Given the description of an element on the screen output the (x, y) to click on. 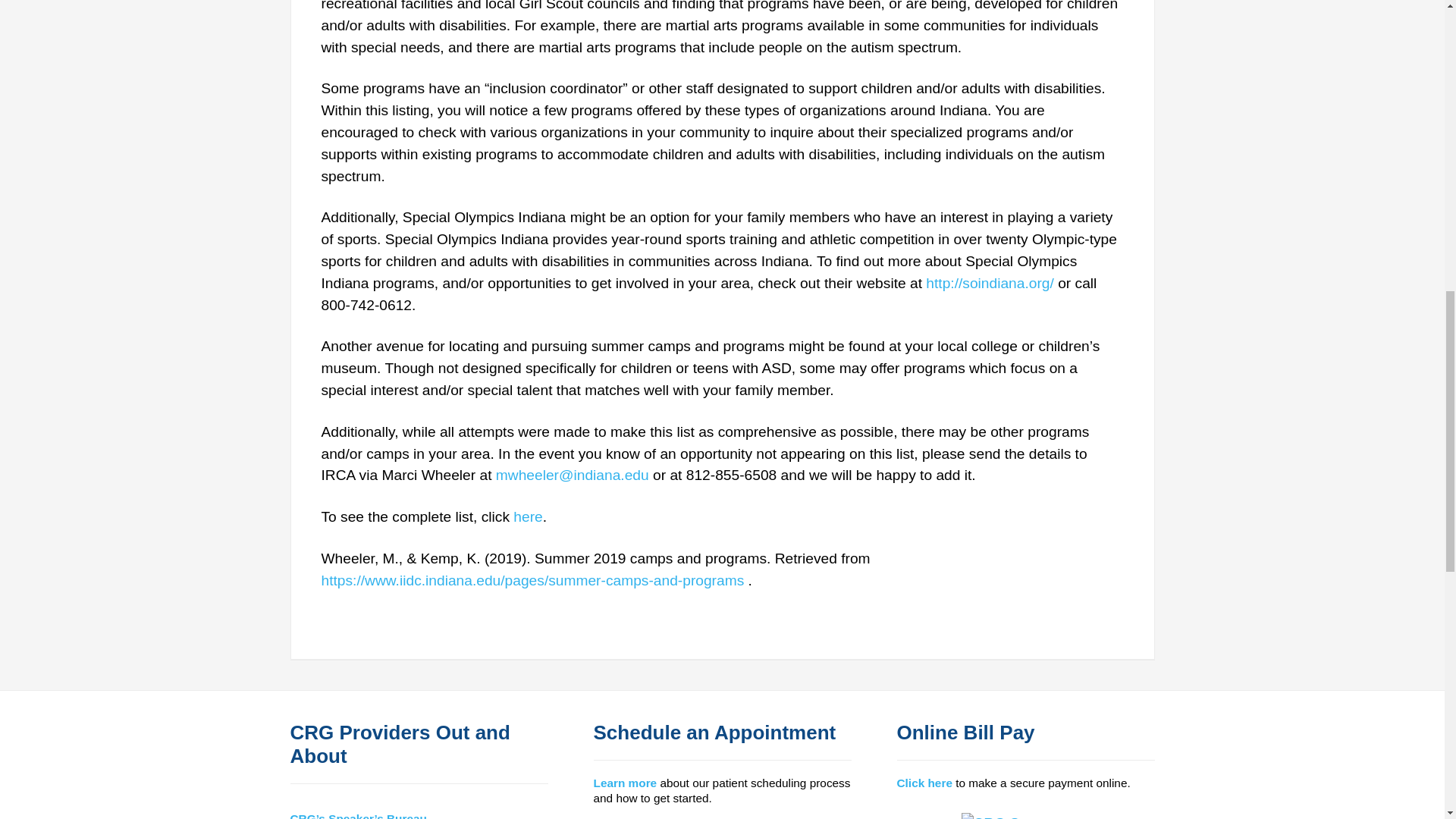
Pay Your CRG Bill Online (1025, 814)
